Given the description of an element on the screen output the (x, y) to click on. 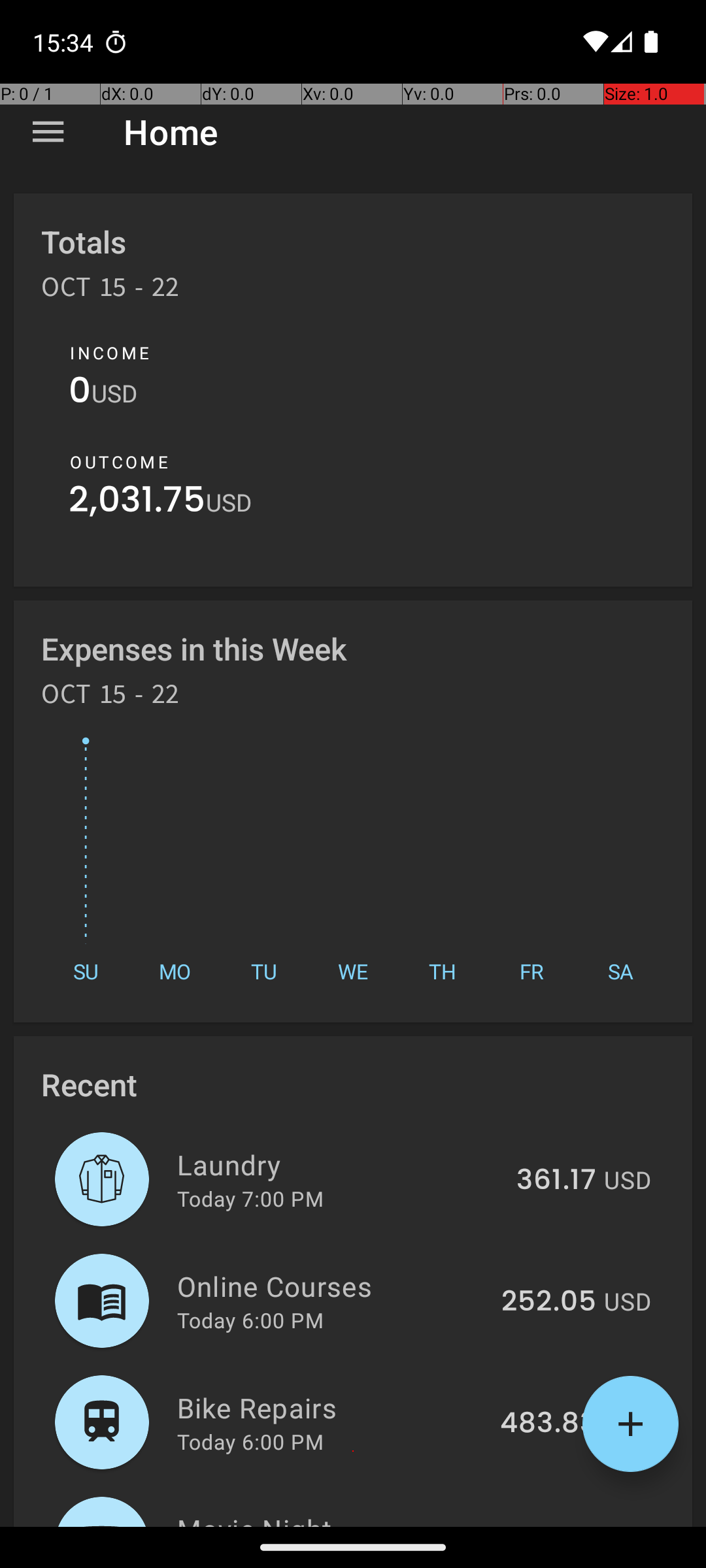
2,031.75 Element type: android.widget.TextView (136, 502)
361.17 Element type: android.widget.TextView (555, 1180)
Online Courses Element type: android.widget.TextView (331, 1285)
252.05 Element type: android.widget.TextView (548, 1301)
483.83 Element type: android.widget.TextView (547, 1423)
Movie Night Element type: android.widget.TextView (343, 1518)
74.01 Element type: android.widget.TextView (560, 1524)
